Given the description of an element on the screen output the (x, y) to click on. 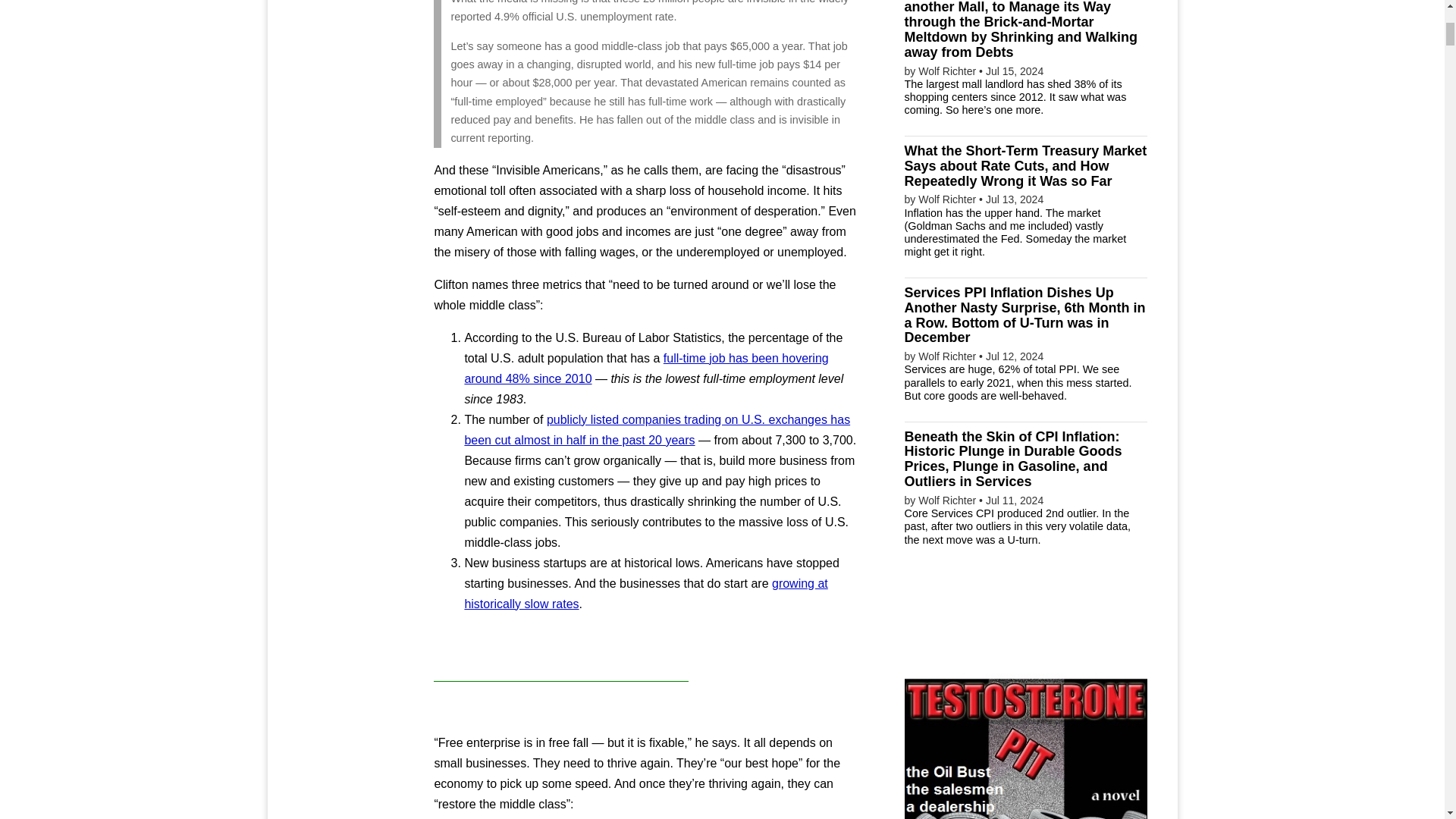
growing at historically slow rates (645, 593)
